Given the description of an element on the screen output the (x, y) to click on. 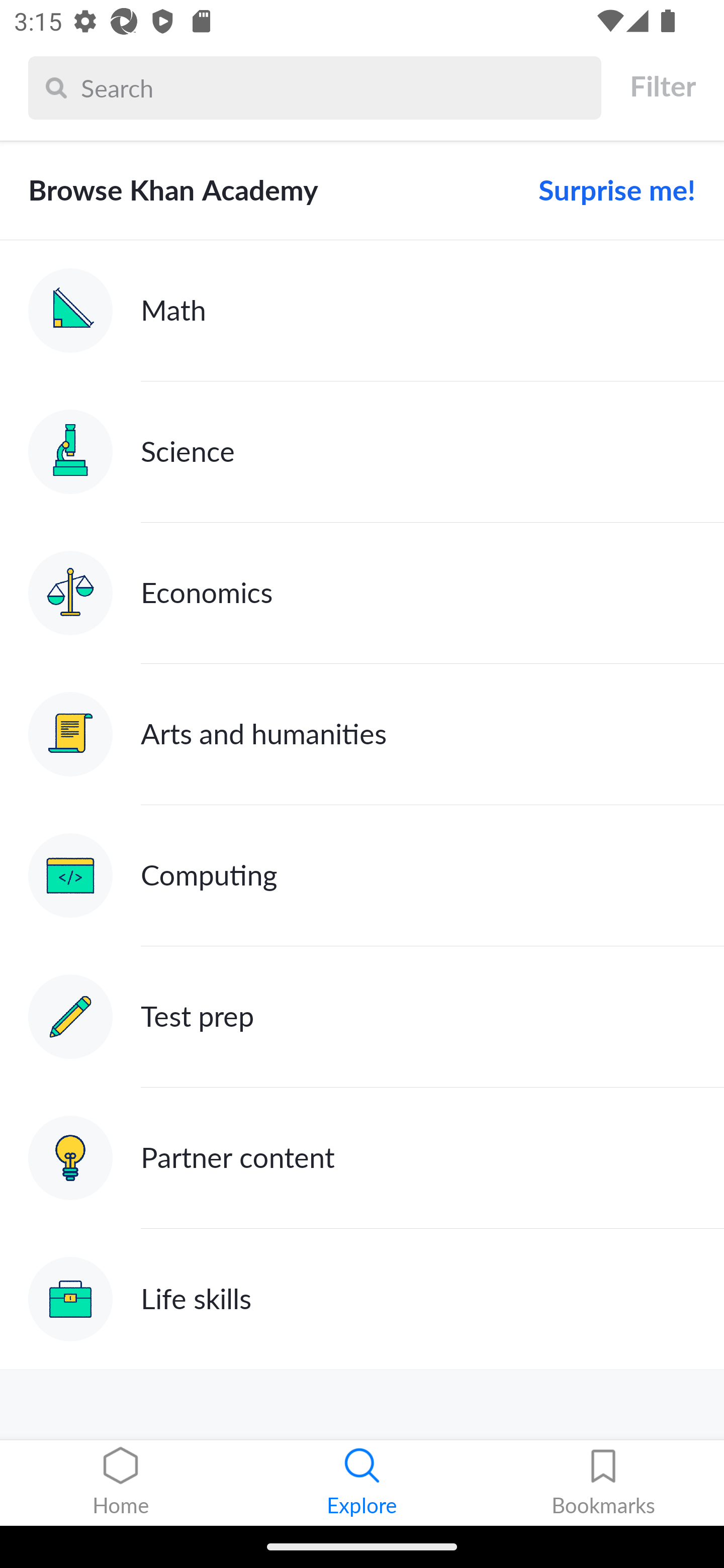
Search Search Search (314, 87)
Search (335, 87)
Filter (662, 85)
Surprise me! (609, 190)
Math (362, 310)
Science (362, 451)
Economics (362, 592)
Arts and humanities (362, 733)
Computing (362, 875)
Test prep (362, 1017)
Partner content (362, 1158)
Life skills (362, 1298)
Home (120, 1482)
Explore (361, 1482)
Bookmarks (603, 1482)
